Given the description of an element on the screen output the (x, y) to click on. 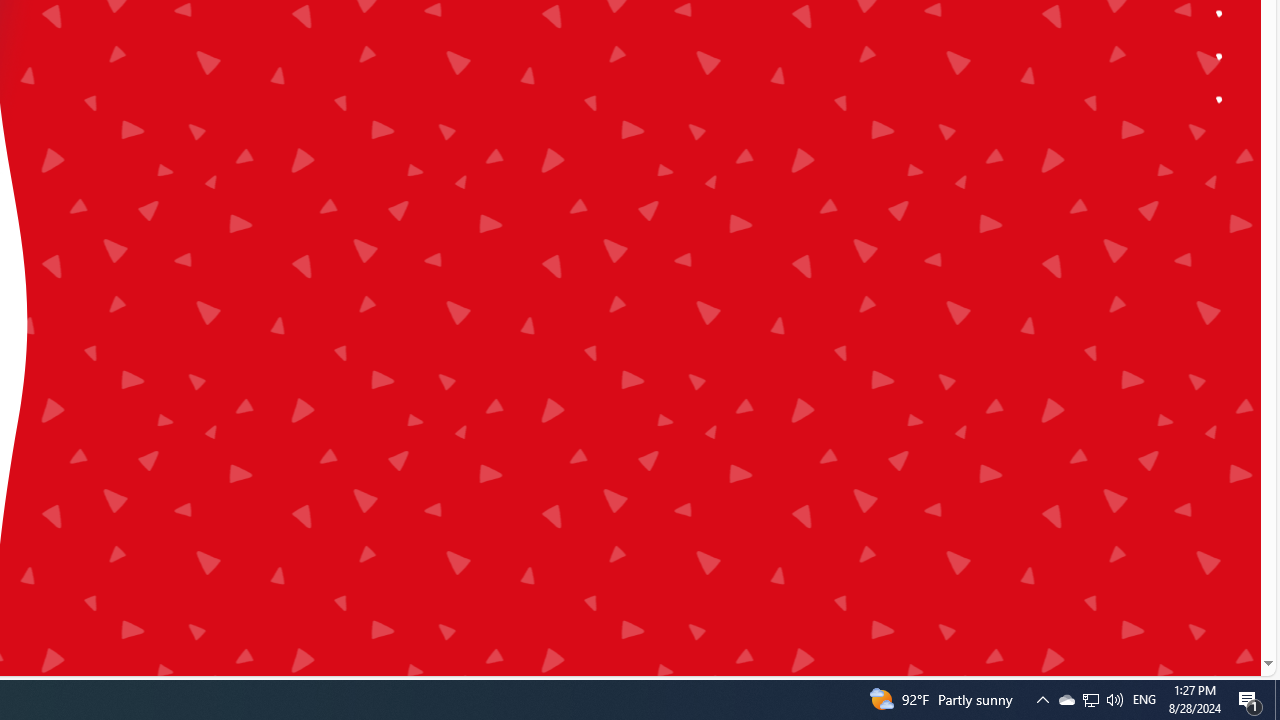
Tips and tools for your family. (1219, 13)
All kinds of videos for all kinds of kids. (1219, 56)
Class: ytk__arrow-link-icon (327, 192)
Tips and tools for your family. (1219, 13)
